Given the description of an element on the screen output the (x, y) to click on. 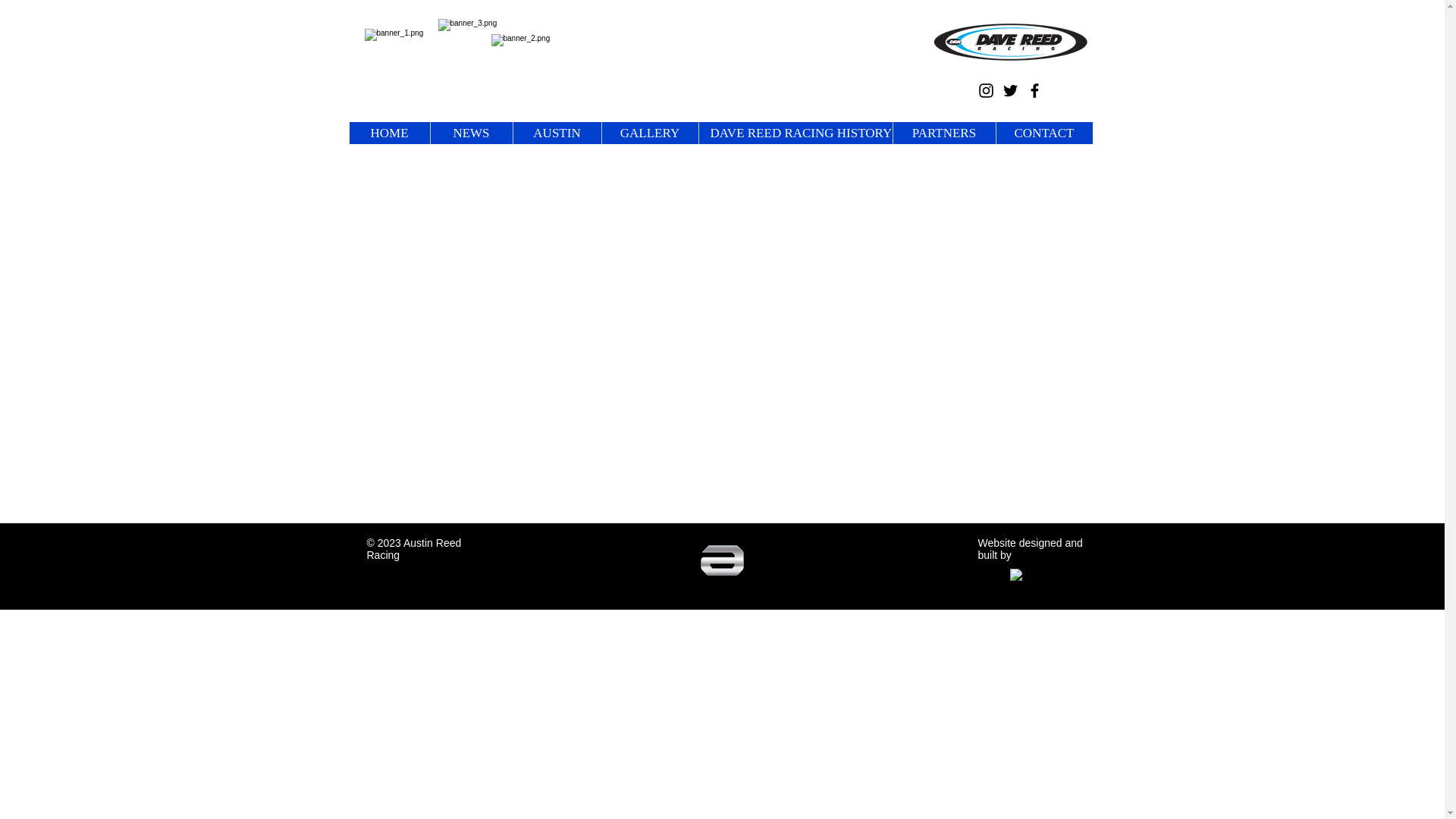
CONTACT (1043, 133)
GALLERY (648, 133)
HOME (389, 133)
NEWS (470, 133)
PARTNERS (942, 133)
AUSTIN (556, 133)
DAVE REED RACING HISTORY (794, 133)
